Given the description of an element on the screen output the (x, y) to click on. 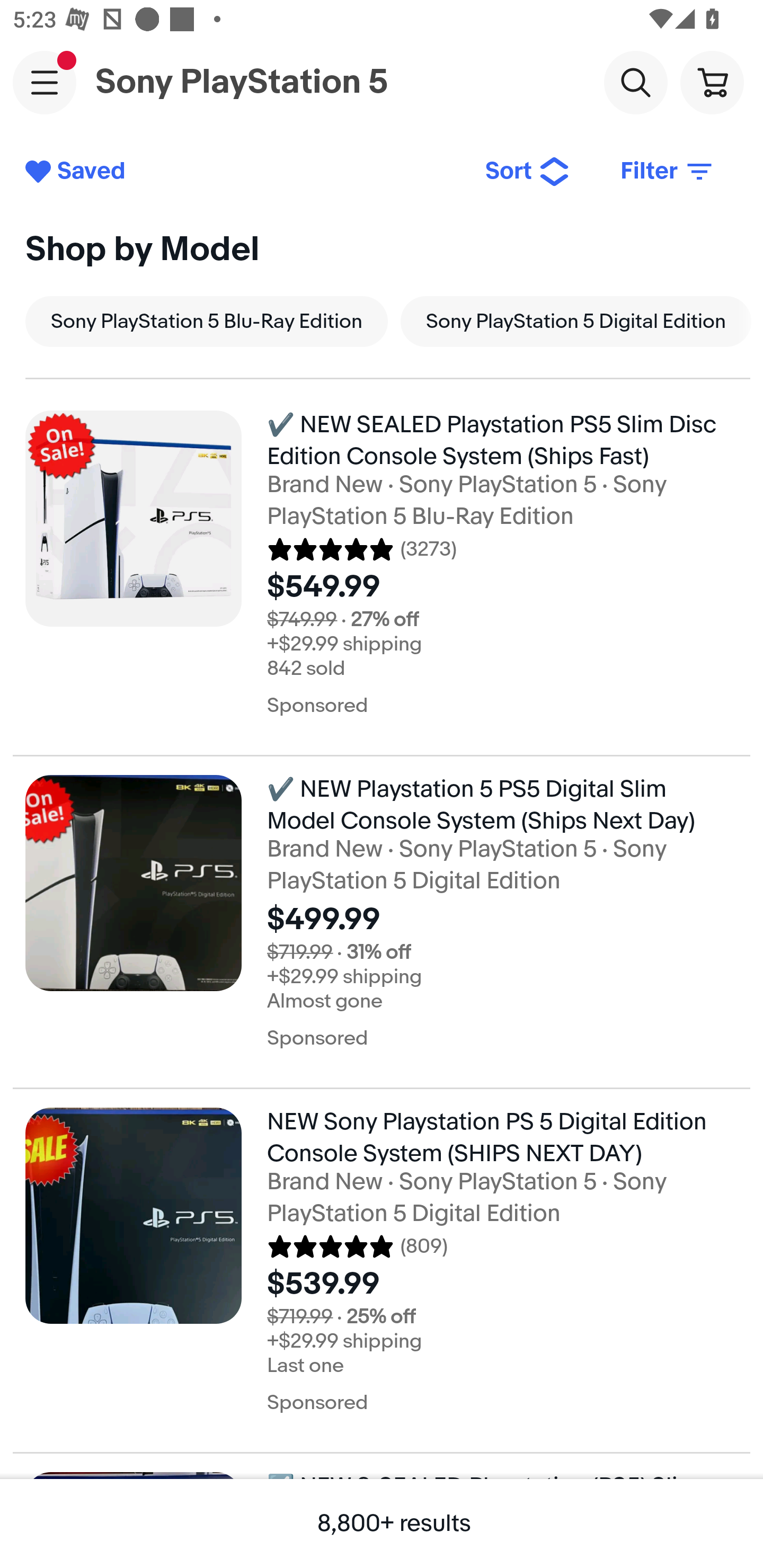
Main navigation, notification is pending, open (44, 82)
Search (635, 81)
Cart button shopping cart (711, 81)
Saved (241, 171)
Sort (527, 171)
Filter (667, 171)
